Given the description of an element on the screen output the (x, y) to click on. 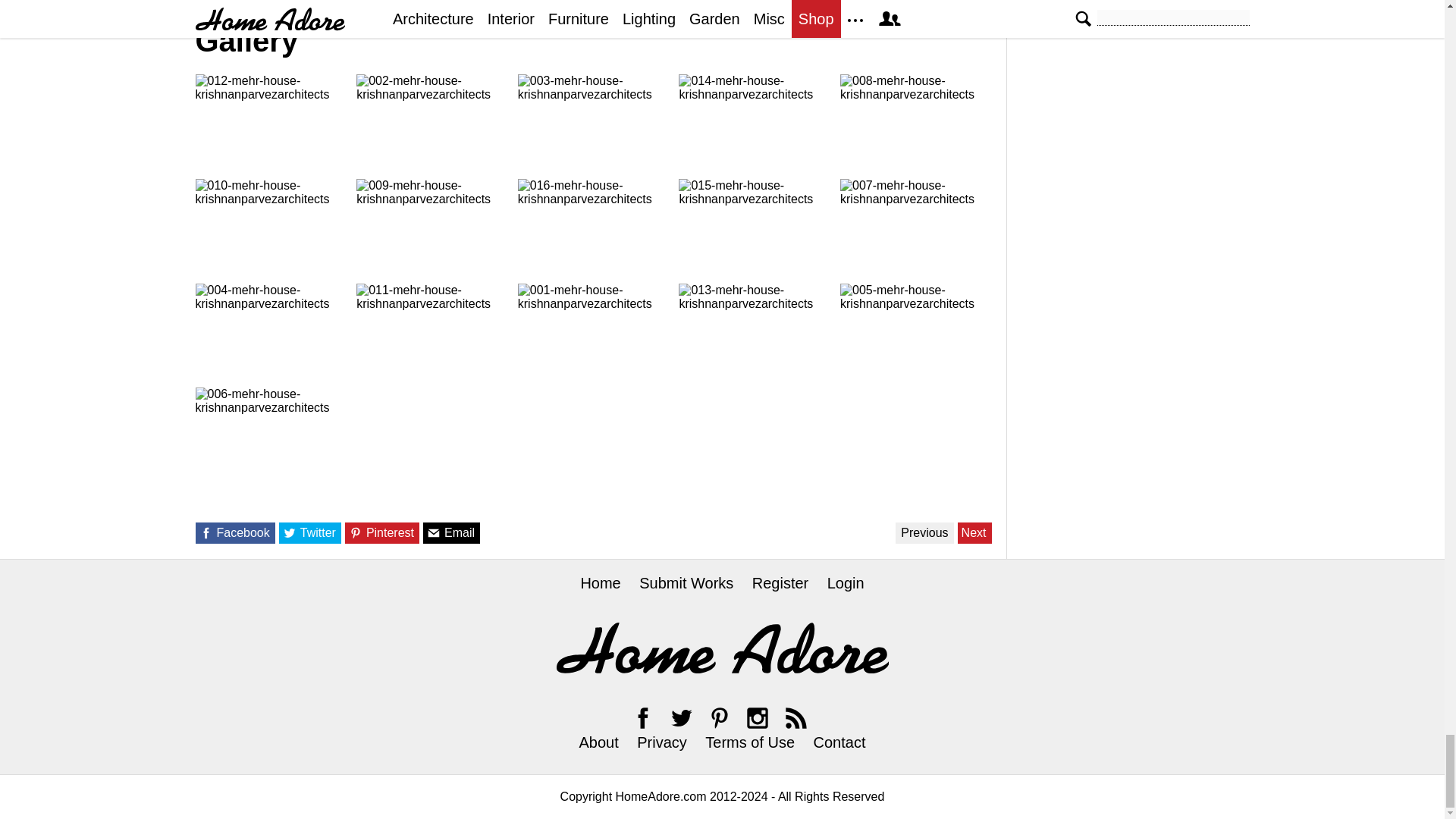
HomeAdore (722, 648)
Share with a Friend (433, 532)
Facebook (643, 718)
Share on Pinterest (355, 532)
Twitter (681, 718)
Share on Twitter (289, 532)
Share on Facebook (205, 532)
